Given the description of an element on the screen output the (x, y) to click on. 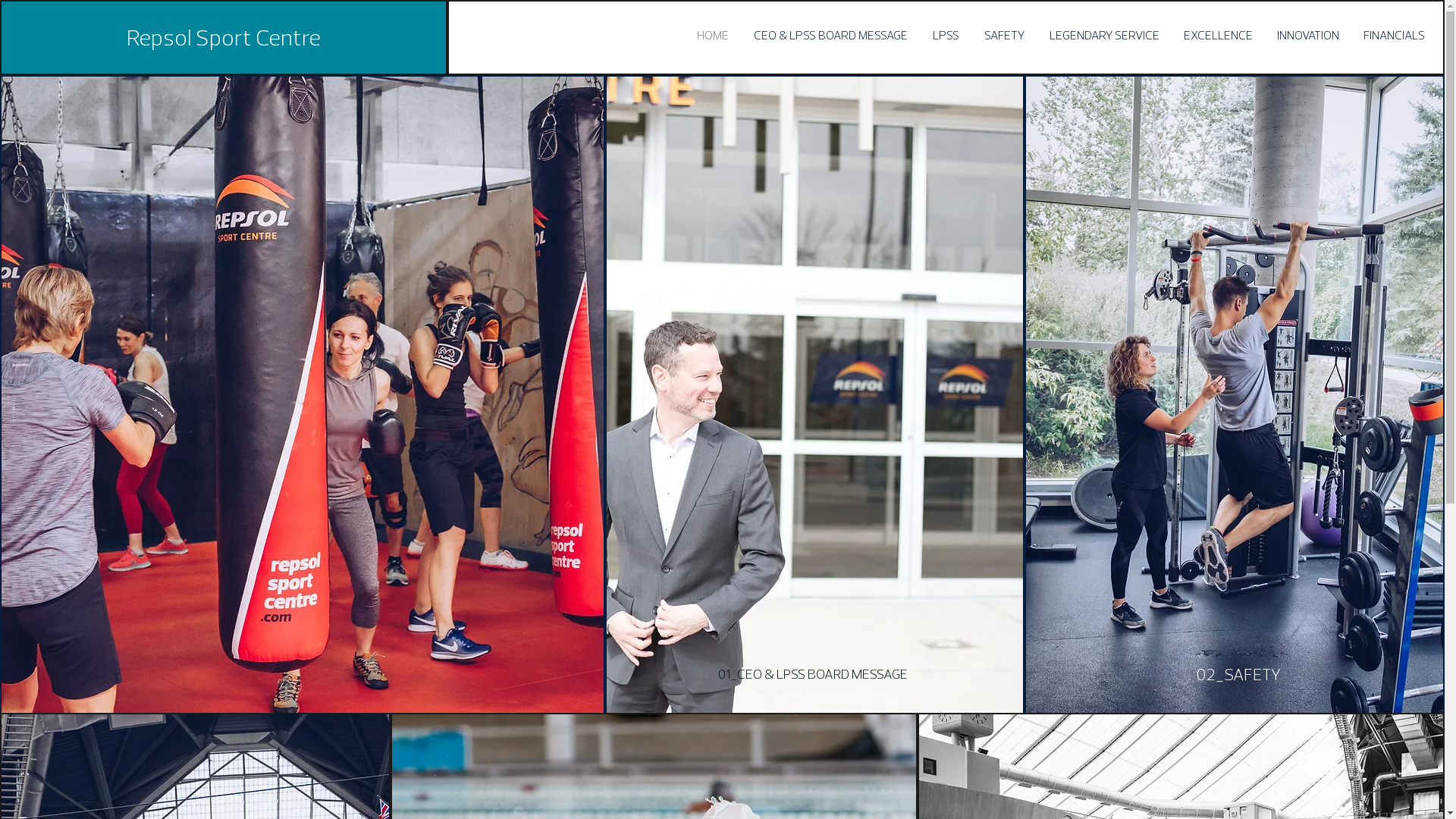
LPSS Element type: text (944, 34)
Repsol Sport Centre Element type: text (223, 36)
01_CEO & LPSS BOARD MESSAGE Element type: text (812, 673)
SAFETY Element type: text (1002, 34)
02_SAFETY Element type: text (1238, 673)
CEO & LPSS BOARD MESSAGE Element type: text (829, 34)
INNOVATION Element type: text (1307, 34)
EXCELLENCE Element type: text (1217, 34)
FINANCIALS Element type: text (1393, 34)
LEGENDARY SERVICE Element type: text (1102, 34)
HOME Element type: text (711, 34)
